Given the description of an element on the screen output the (x, y) to click on. 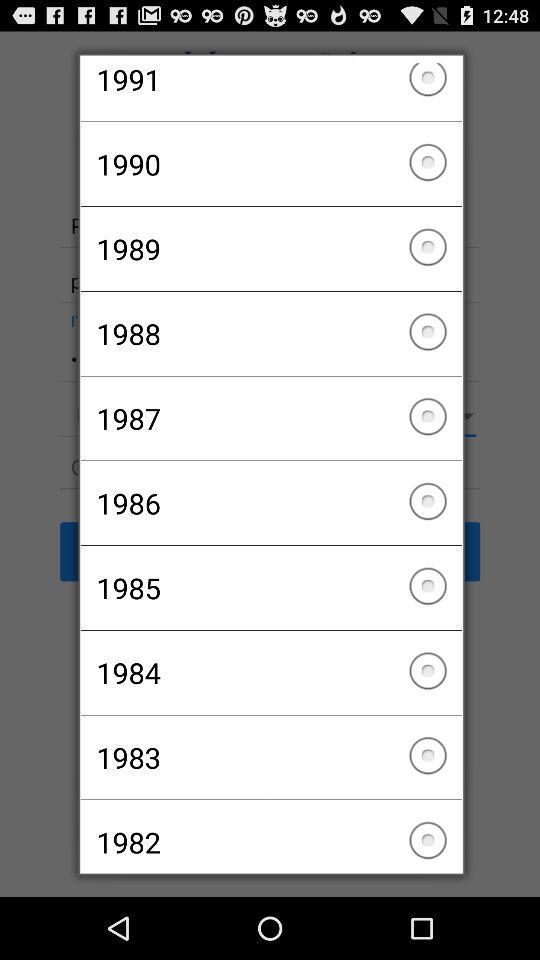
turn off checkbox above 1986 checkbox (270, 418)
